Given the description of an element on the screen output the (x, y) to click on. 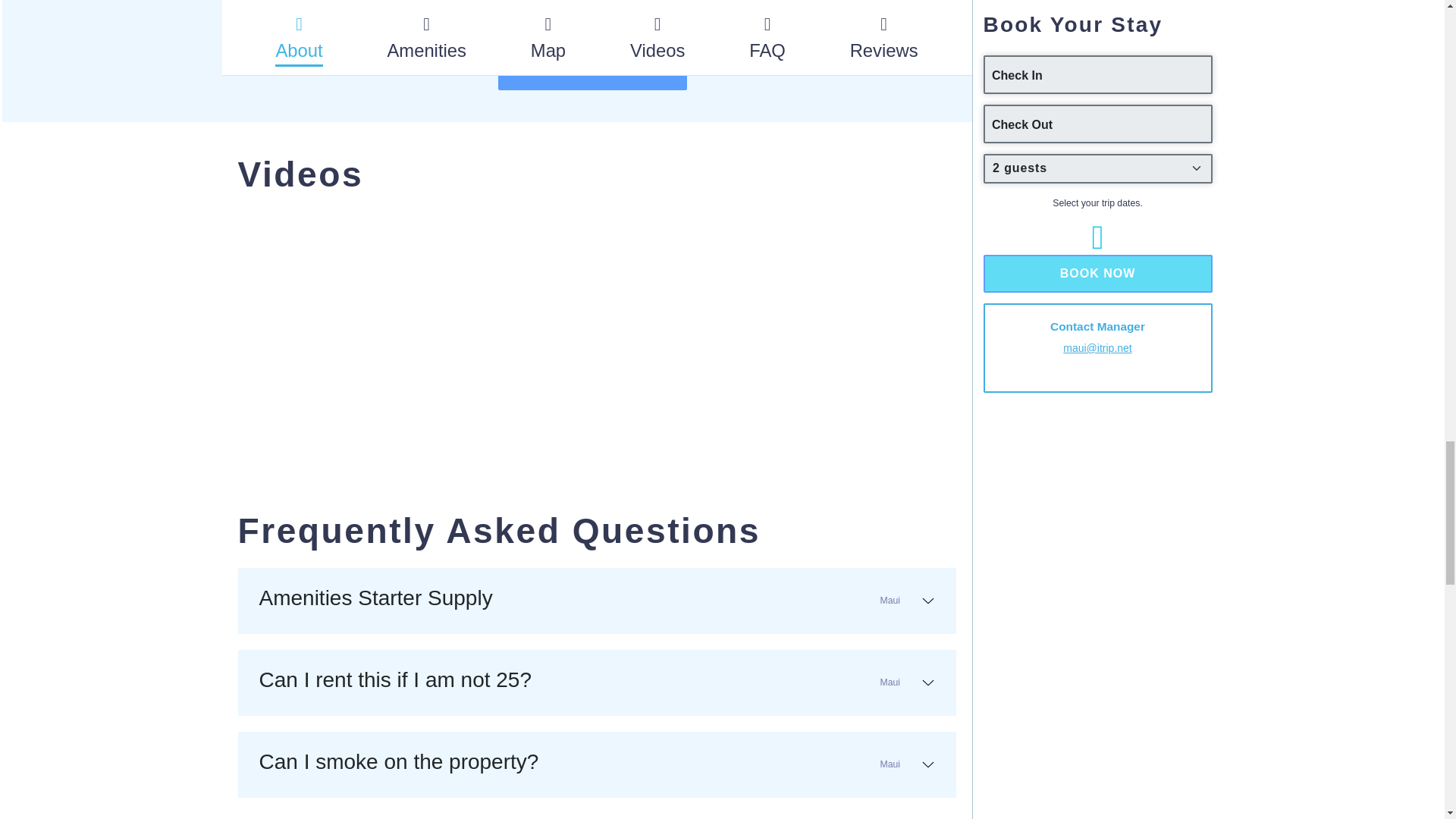
SHOW PROPERTY PIN (597, 600)
